Given the description of an element on the screen output the (x, y) to click on. 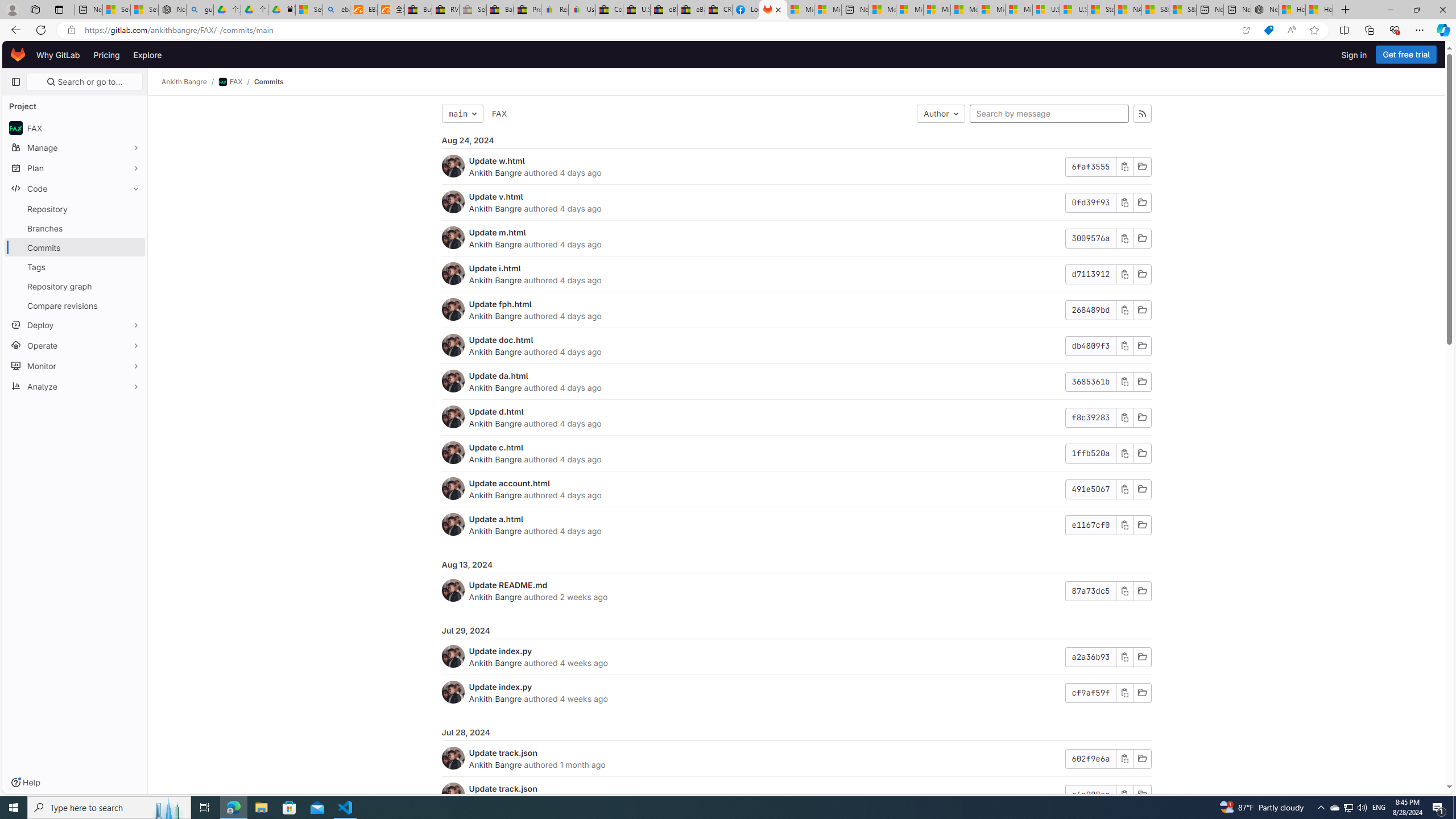
Manage (74, 147)
How to Use a Monitor With Your Closed Laptop (1319, 9)
Operate (74, 344)
Update index.py (500, 686)
Update account.html (509, 483)
Sign in (1353, 54)
Compare revisions (74, 305)
Update doc.htmlAnkith Bangre authored 4 days agodb4809f3 (796, 345)
Update d.html (496, 411)
FAX (499, 112)
